Given the description of an element on the screen output the (x, y) to click on. 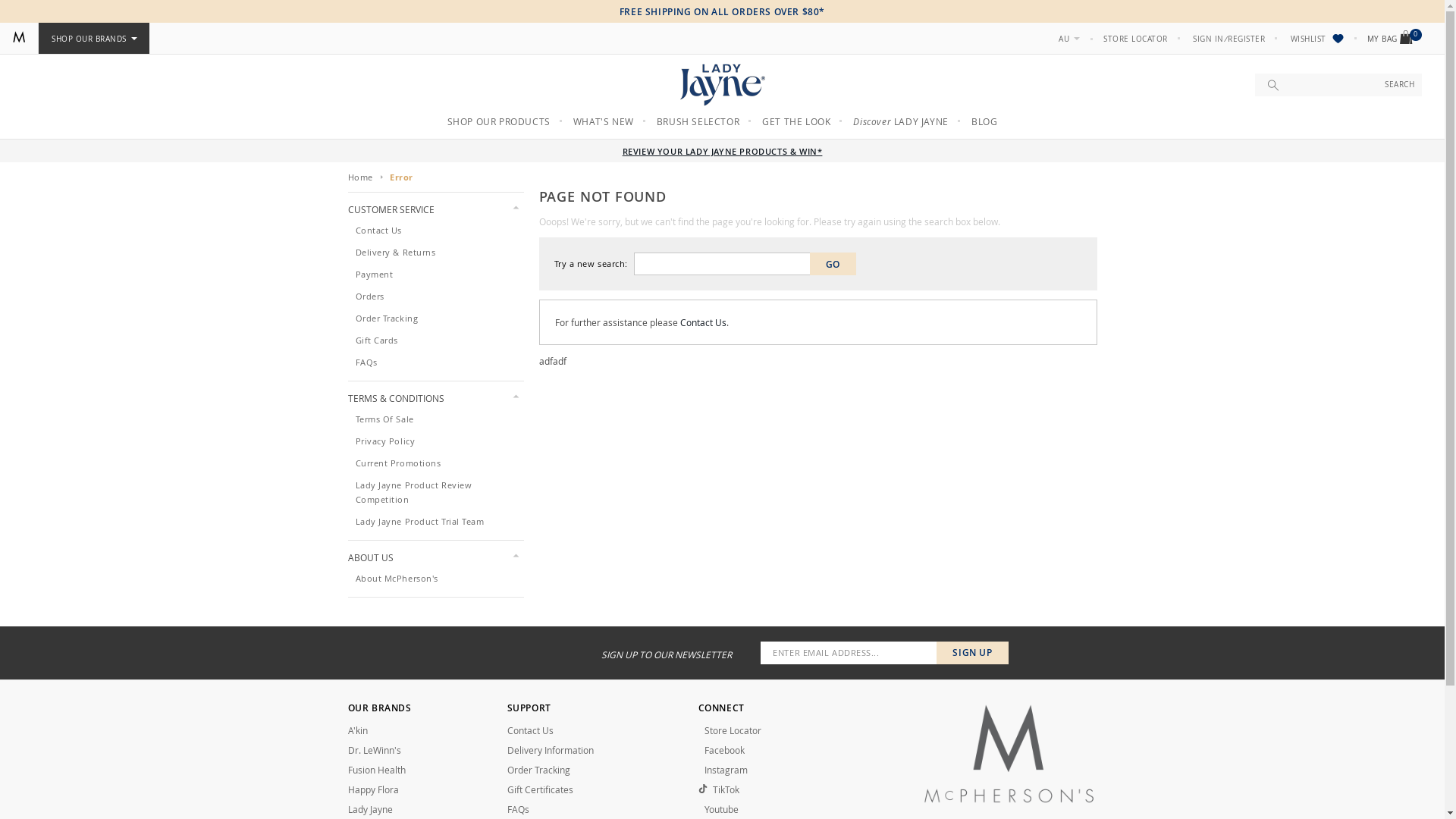
SEARCH Element type: text (1399, 84)
Facebook Element type: text (785, 749)
Store Locator Element type: text (728, 730)
Gift Certificates Element type: text (539, 789)
SIGN UP Element type: text (971, 652)
SHOP OUR BRANDS Element type: text (93, 39)
REVIEW YOUR LADY JAYNE PRODUCTS & WIN* Element type: text (722, 150)
SIGN IN Element type: text (1207, 39)
FAQs Element type: text (365, 361)
Fusion Health Element type: text (375, 769)
About McPherson'S Element type: text (395, 577)
Instagram Element type: text (785, 769)
McPherson's  Element type: hover (18, 37)
AU Element type: text (1068, 39)
BLOG Element type: text (984, 121)
Happy Flora Element type: text (372, 789)
Contact Us Element type: text (529, 730)
Dr. LeWinn's Element type: text (373, 749)
Home Element type: text (359, 177)
TikTok Element type: text (785, 789)
Orders Element type: text (368, 295)
Payment Element type: text (373, 273)
Contact Us Element type: text (377, 229)
Delivery & Returns Element type: text (394, 251)
WISHLIST Element type: text (1317, 39)
REGISTER Element type: text (1245, 39)
Terms Of Sale Element type: text (383, 418)
Order Tracking Element type: text (385, 317)
Gift Cards Element type: text (376, 339)
Discover LADY JAYNE Element type: text (900, 121)
Order Tracking Element type: text (537, 769)
FAQs Element type: text (517, 809)
A'kin Element type: text (357, 730)
BRUSH SELECTOR Element type: text (697, 121)
Current Promotions Element type: text (397, 462)
Lady Jayne Product Trial Team Element type: text (418, 521)
SHOP OUR PRODUCTS Element type: text (498, 121)
Delivery Information Element type: text (549, 749)
WHAT'S NEW Element type: text (603, 121)
Contact Us Element type: text (702, 322)
GET THE LOOK Element type: text (796, 121)
STORE LOCATOR Element type: text (1135, 39)
Lady Jayne Product Review Competition Element type: text (412, 492)
GO Element type: text (832, 263)
Lady Jayne Element type: text (369, 809)
Youtube Element type: text (785, 808)
Privacy Policy Element type: text (384, 440)
